Given the description of an element on the screen output the (x, y) to click on. 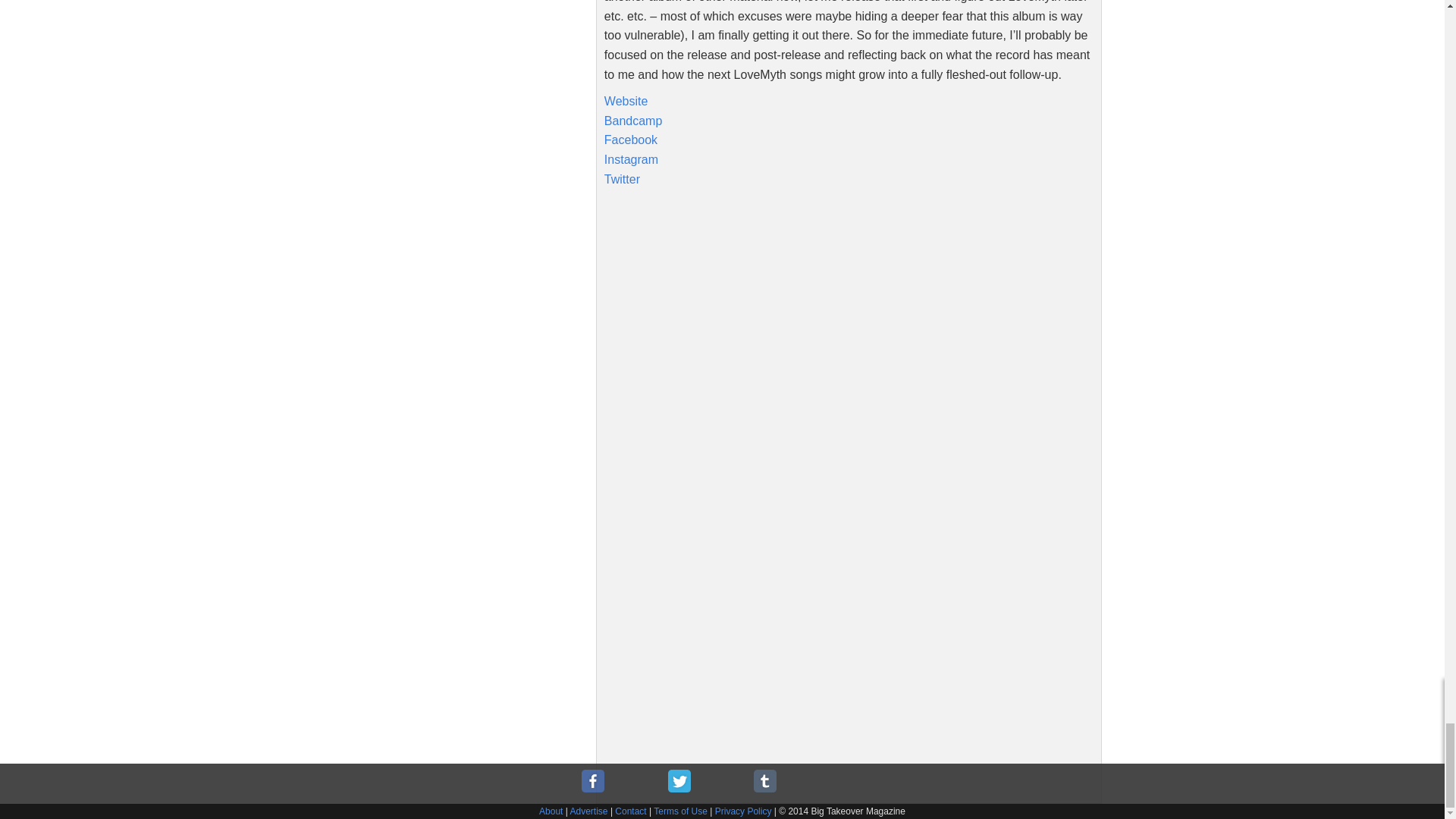
Website (625, 101)
Twitter (622, 178)
Facebook (631, 139)
Instagram (631, 159)
Bandcamp (633, 120)
